Given the description of an element on the screen output the (x, y) to click on. 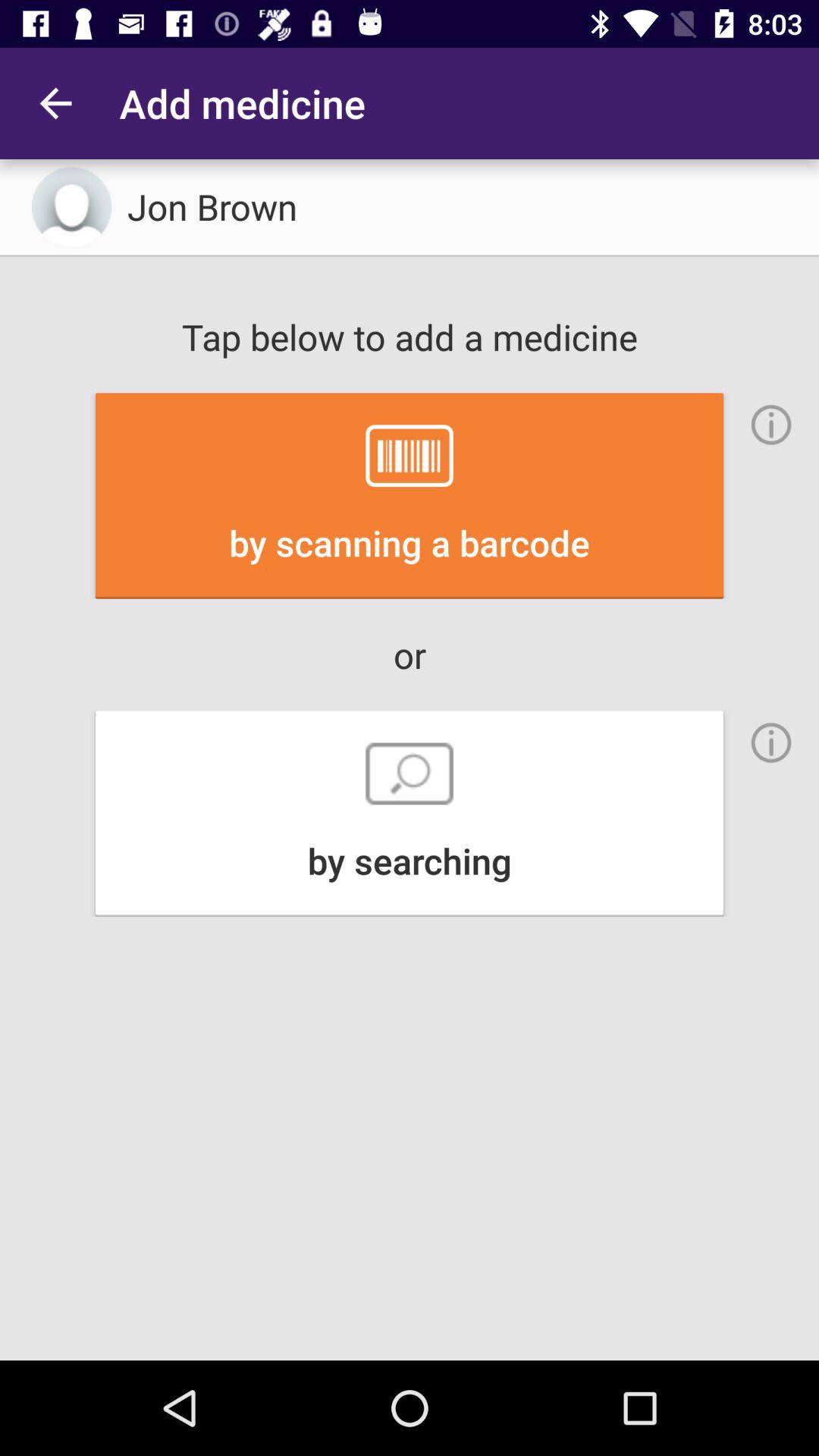
more information (771, 742)
